Given the description of an element on the screen output the (x, y) to click on. 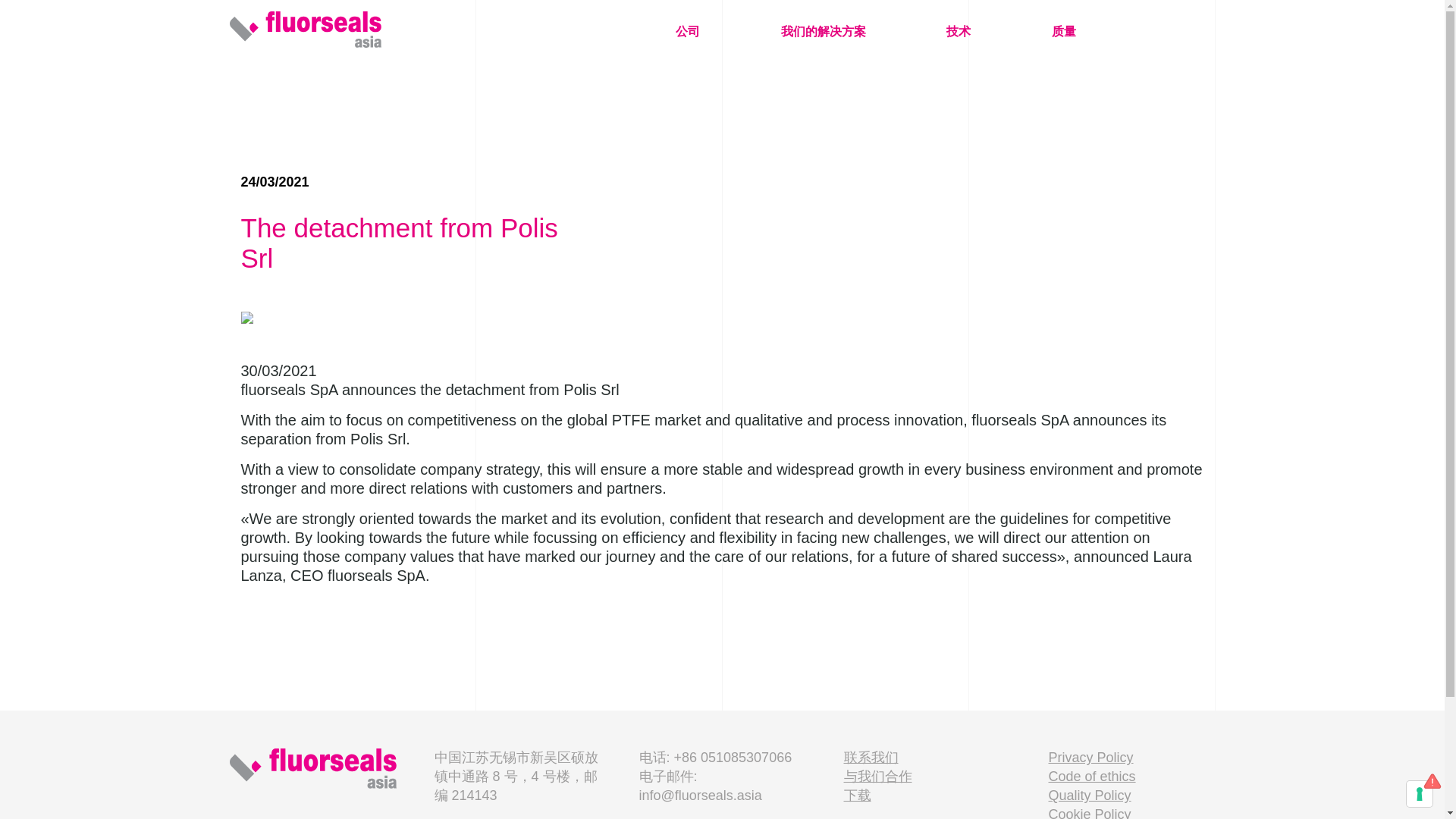
Privacy Policy (1090, 757)
Cookie Policy (1089, 812)
Code of ethics (1091, 776)
Cookie Policy  (1089, 812)
Quality Policy (1089, 795)
